Given the description of an element on the screen output the (x, y) to click on. 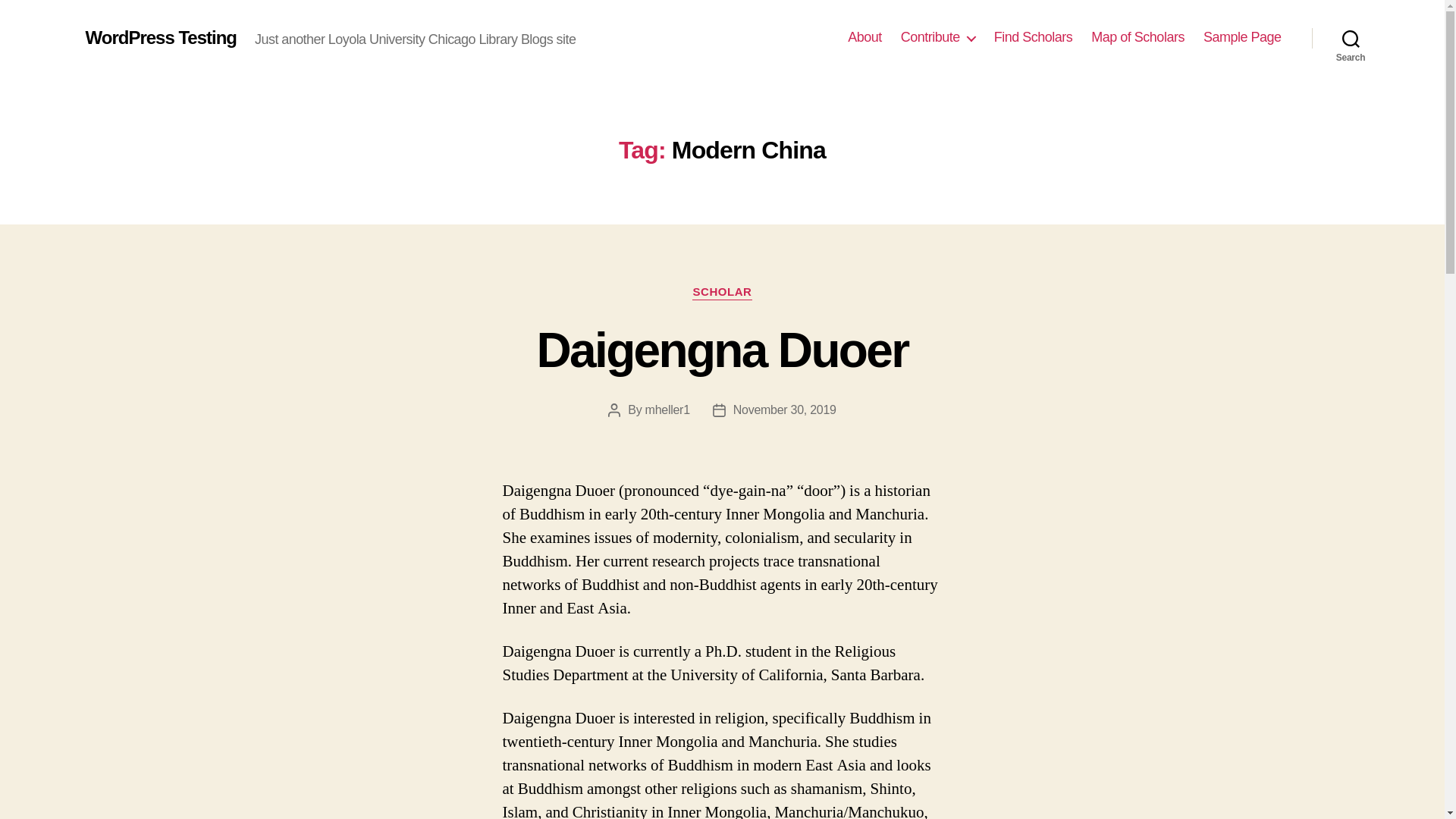
SCHOLAR (722, 292)
mheller1 (667, 409)
Map of Scholars (1137, 37)
November 30, 2019 (784, 409)
Sample Page (1242, 37)
Contribute (938, 37)
Find Scholars (1033, 37)
About (864, 37)
WordPress Testing (159, 37)
Daigengna Duoer (722, 349)
Search (1350, 37)
